Given the description of an element on the screen output the (x, y) to click on. 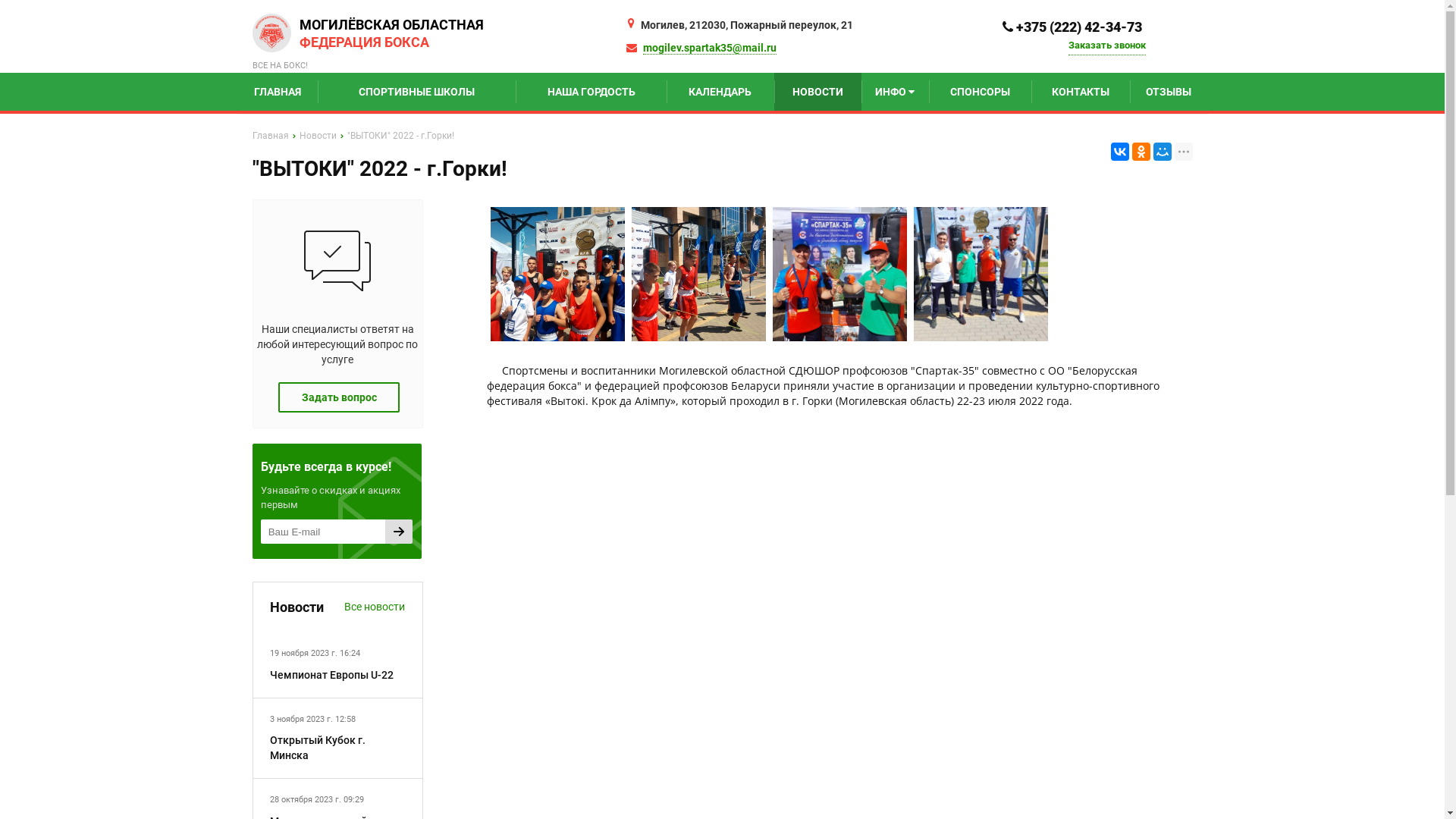
mogilev.spartak35@mail.ru Element type: text (709, 47)
